Given the description of an element on the screen output the (x, y) to click on. 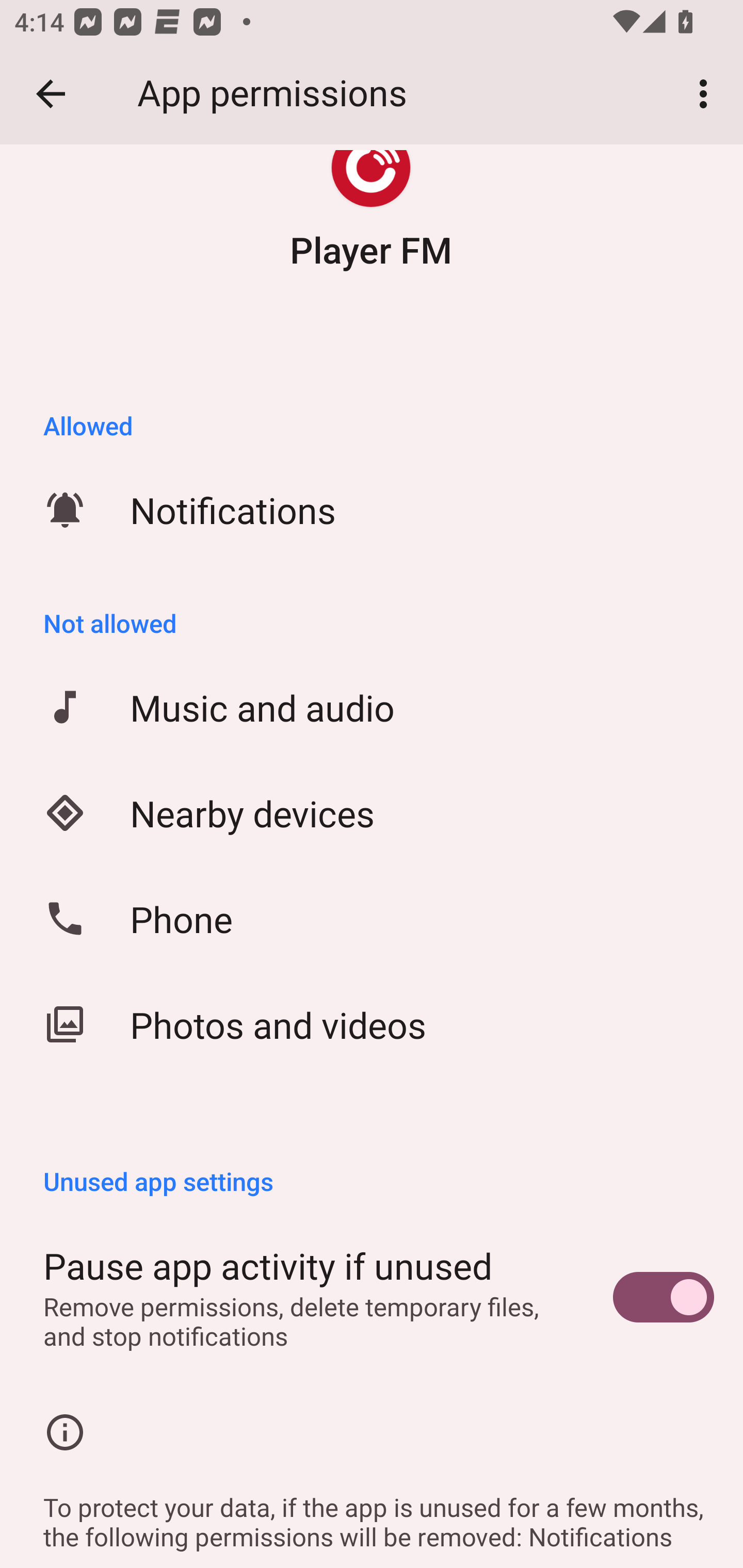
Back (50, 93)
More options (706, 93)
Notifications (371, 509)
Music and audio (371, 706)
Nearby devices (371, 812)
Phone (371, 918)
Photos and videos (371, 1024)
